Given the description of an element on the screen output the (x, y) to click on. 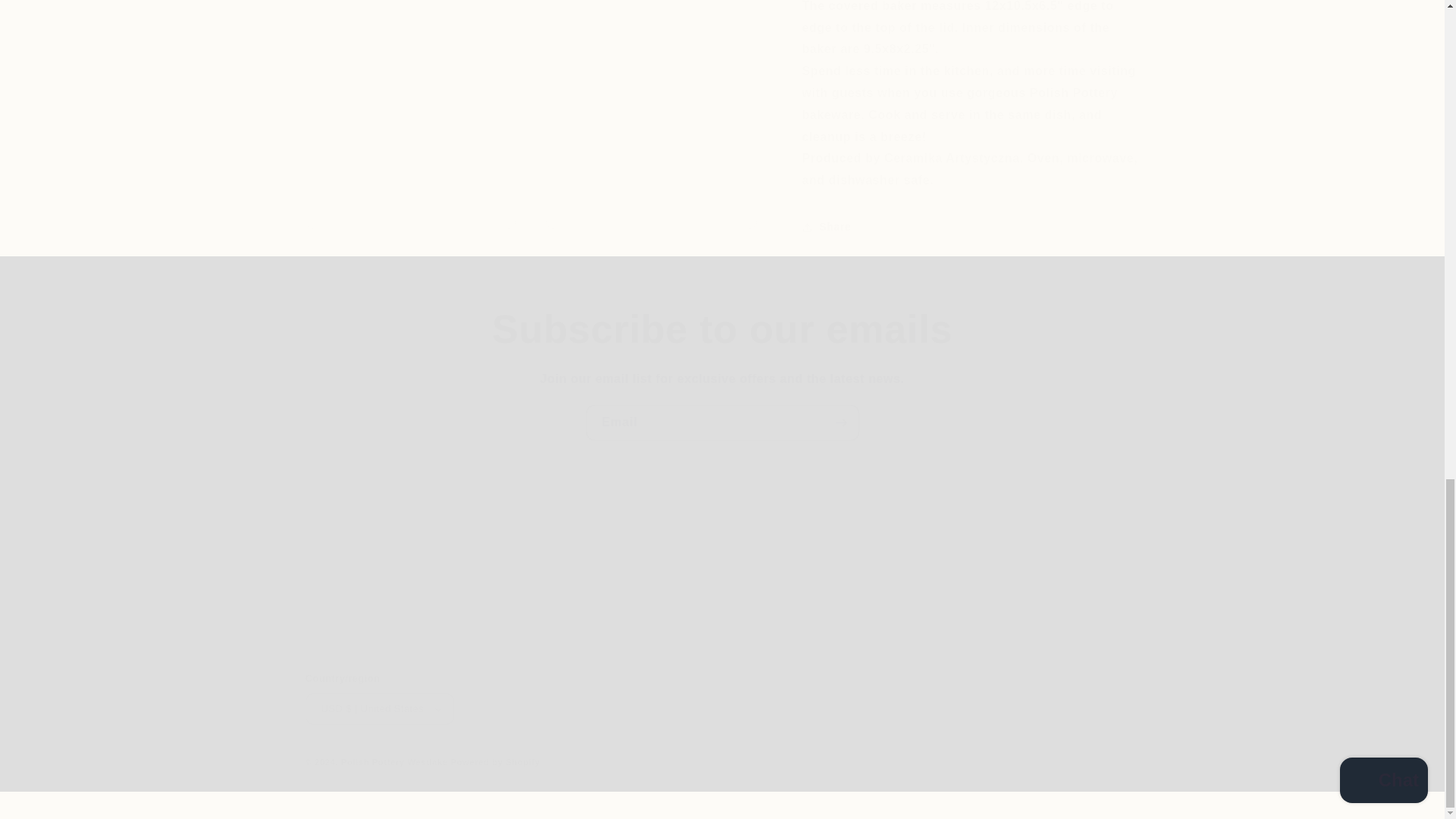
Subscribe to our emails (721, 328)
Email (722, 422)
Open media 4 in modal (409, 106)
Open media 5 in modal (651, 106)
